Given the description of an element on the screen output the (x, y) to click on. 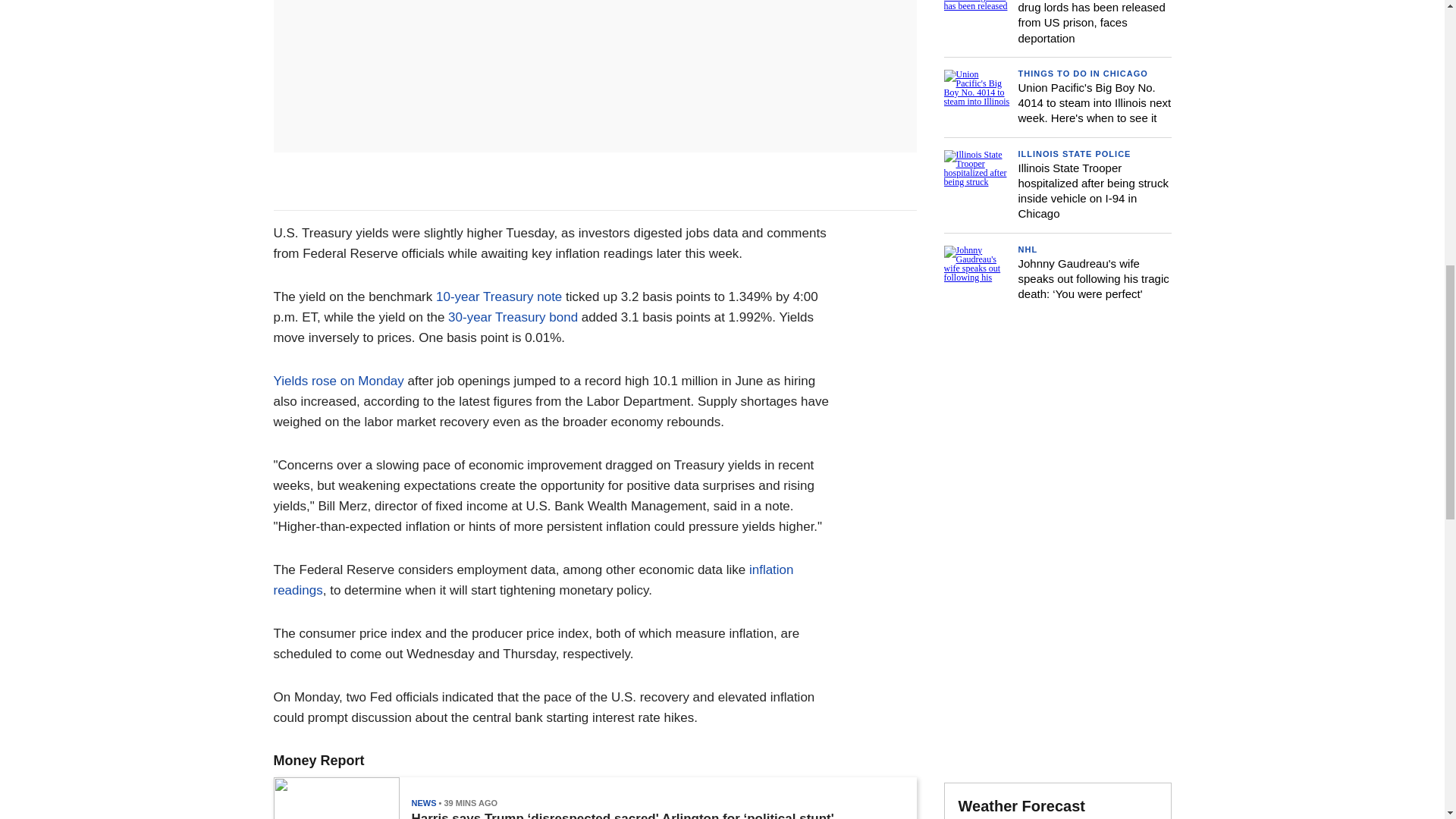
NEWS (422, 802)
10-year Treasury note (498, 296)
inflation readings (533, 579)
30-year Treasury bond (513, 317)
Yields rose on Monday (338, 380)
